Given the description of an element on the screen output the (x, y) to click on. 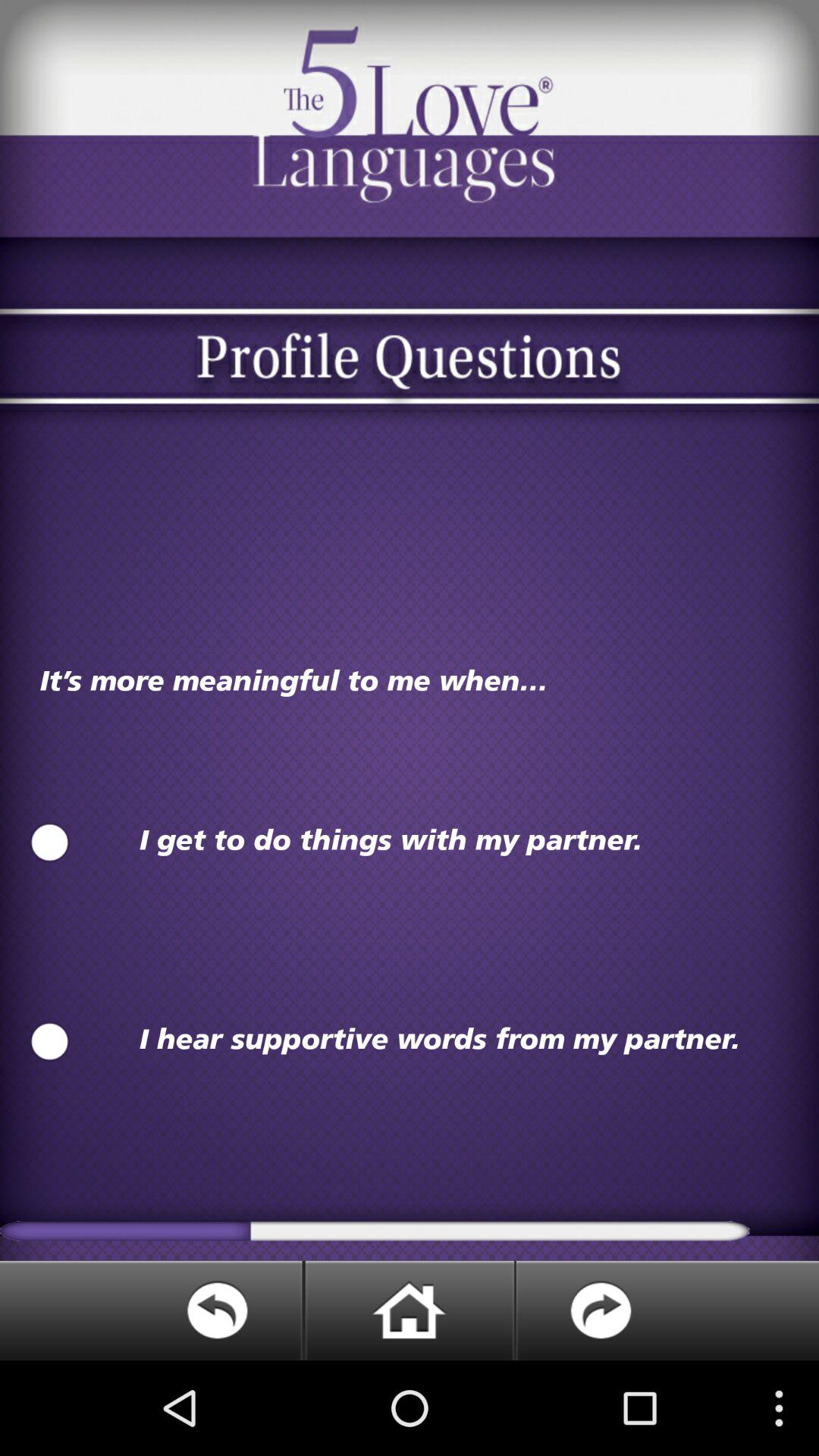
go to home screen (409, 1310)
